Given the description of an element on the screen output the (x, y) to click on. 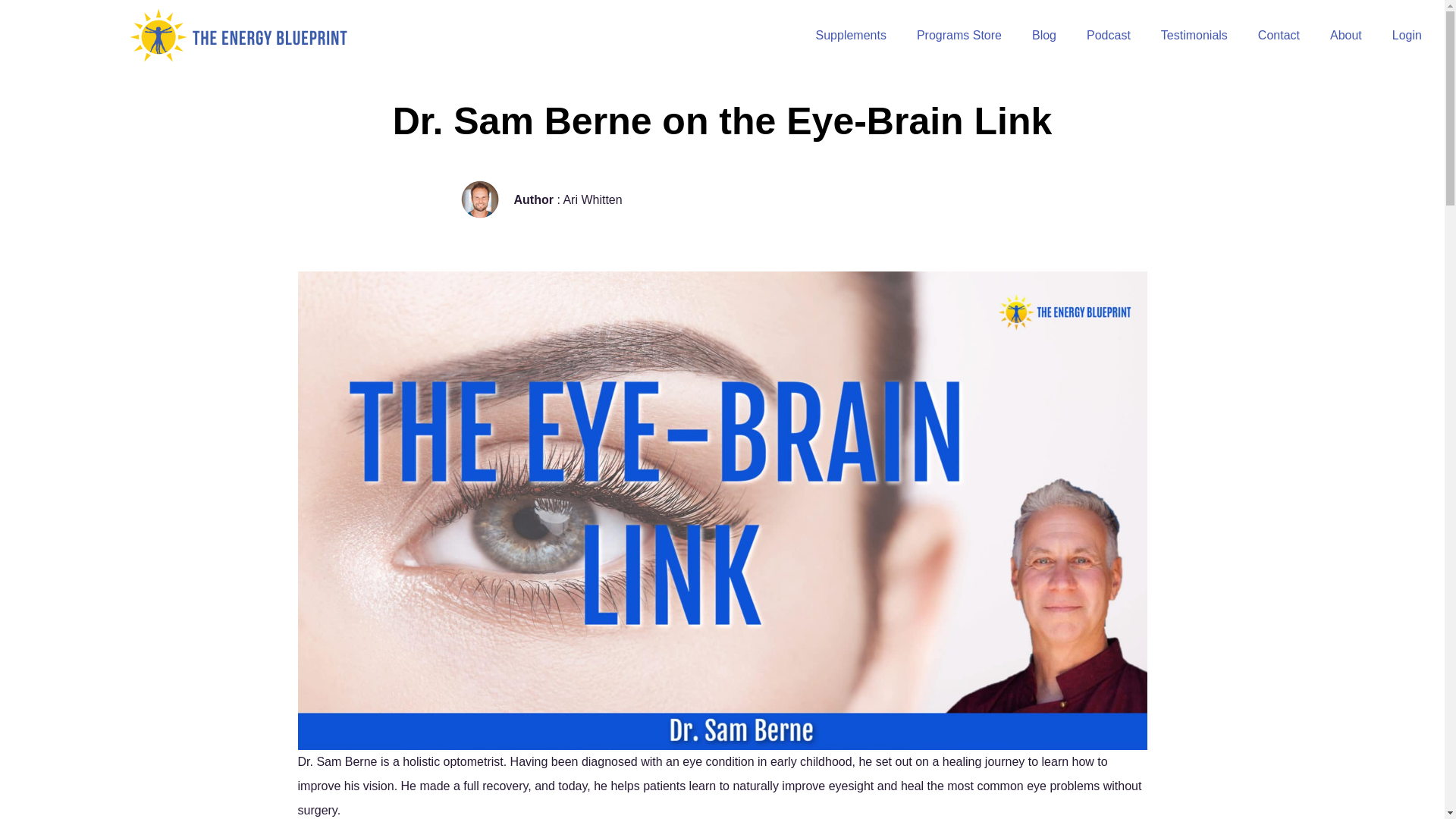
Login (1407, 35)
Testimonials (1194, 35)
Podcast (1108, 35)
Contact (1278, 35)
About (1345, 35)
Supplements (850, 35)
Blog (1043, 35)
Programs Store (958, 35)
